Given the description of an element on the screen output the (x, y) to click on. 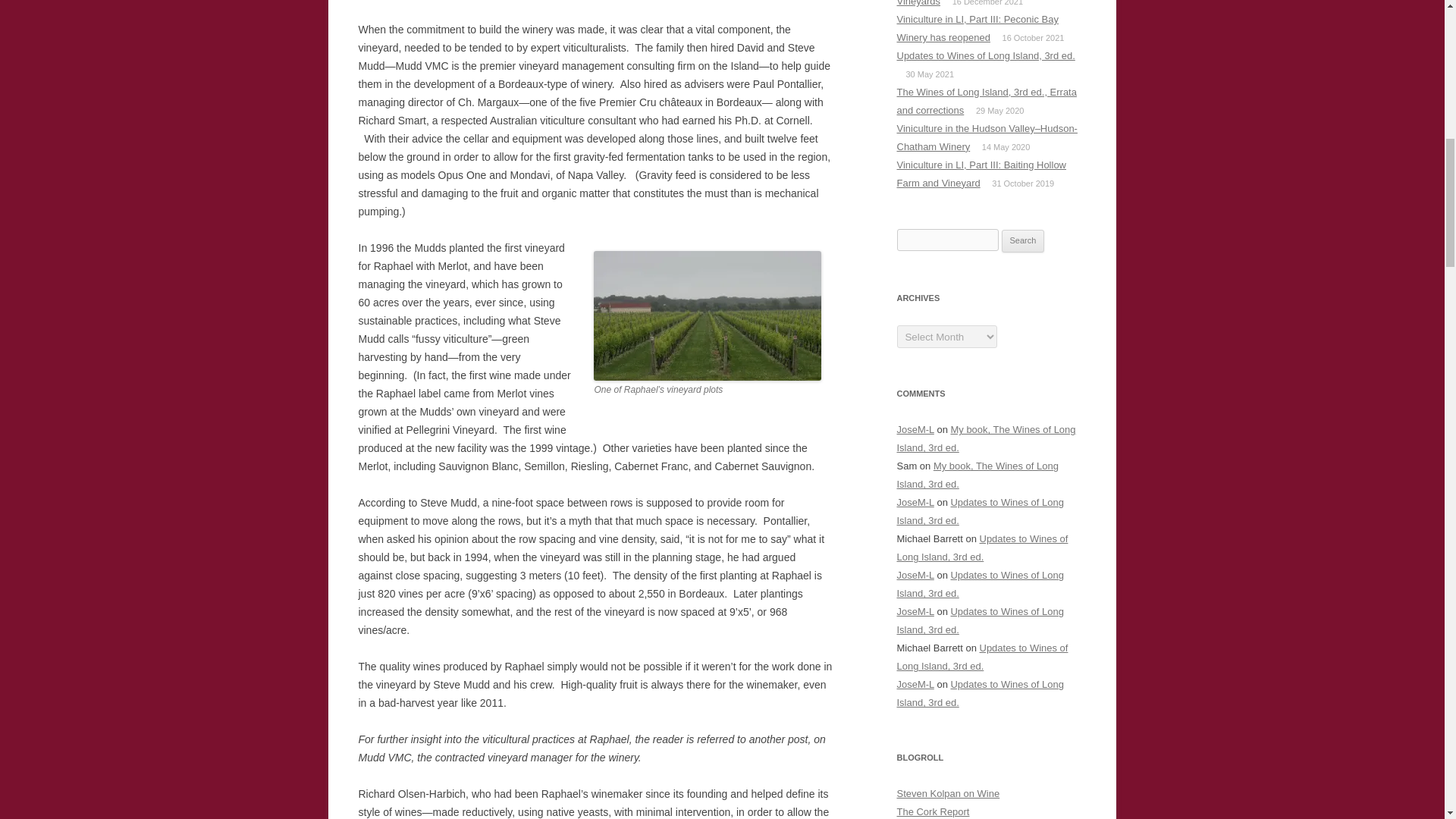
Raphael Winery, vineyard (707, 315)
A blog by Lenn Thompson (932, 811)
Search (1023, 241)
